Given the description of an element on the screen output the (x, y) to click on. 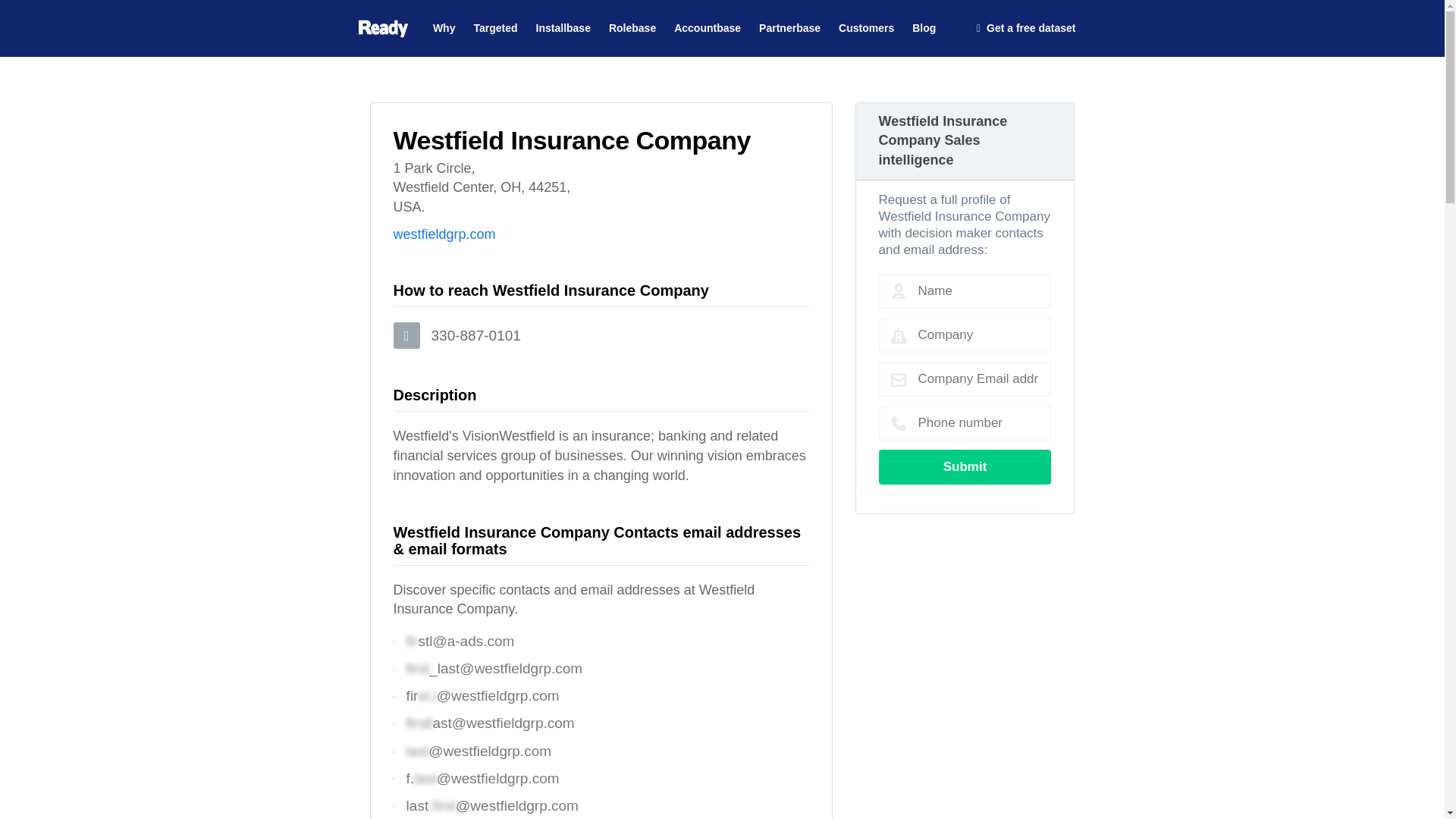
Rolebase (632, 22)
Why (443, 22)
westfieldgrp.com (444, 233)
Get a free dataset (1026, 28)
Submit (964, 466)
Accountbase (707, 22)
Customers (865, 22)
Partnerbase (789, 22)
Blog (923, 22)
Targeted (494, 22)
Submit (964, 466)
Installbase (563, 22)
